Given the description of an element on the screen output the (x, y) to click on. 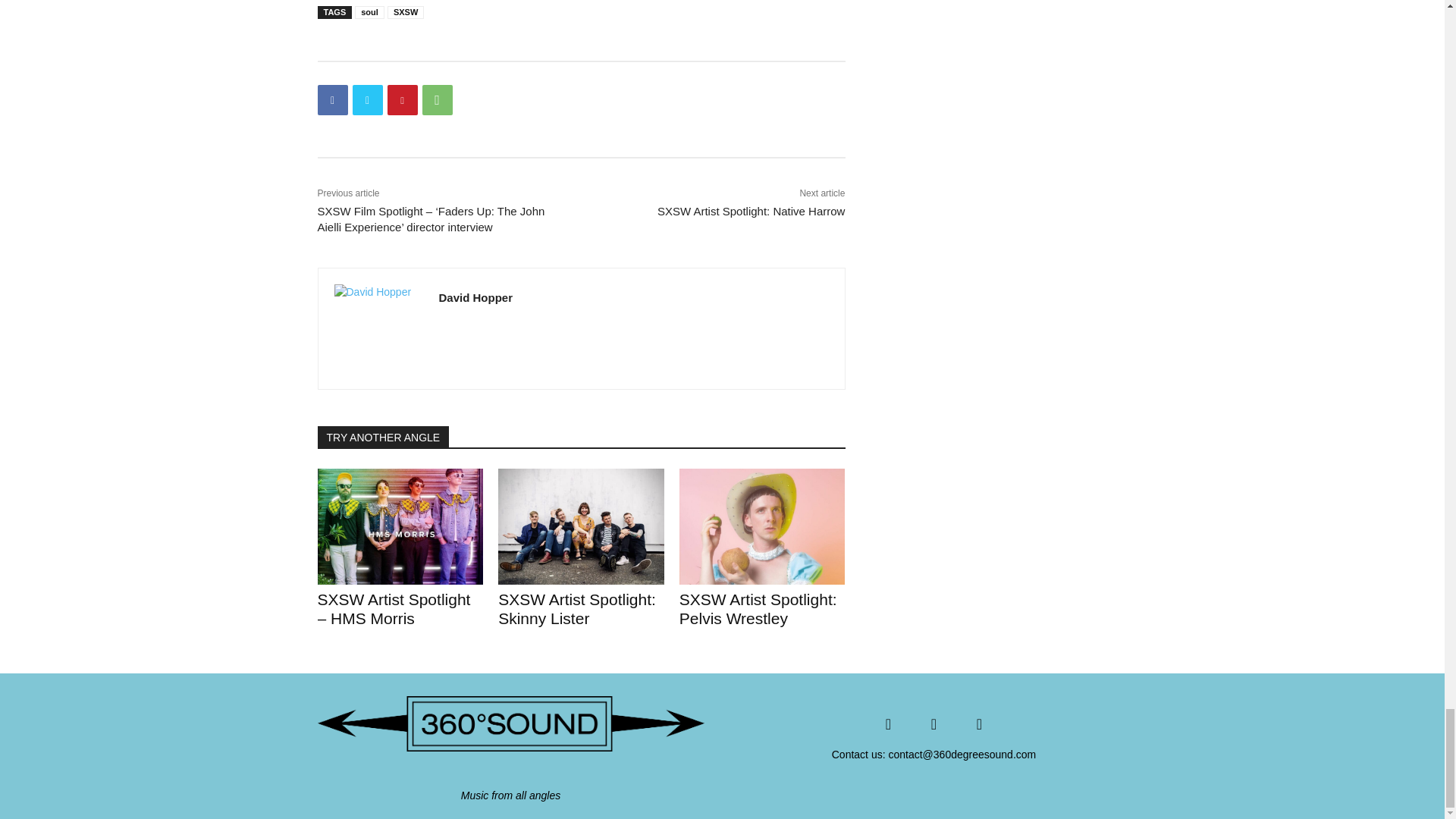
Facebook (332, 100)
soul (369, 11)
Twitter (366, 100)
